Given the description of an element on the screen output the (x, y) to click on. 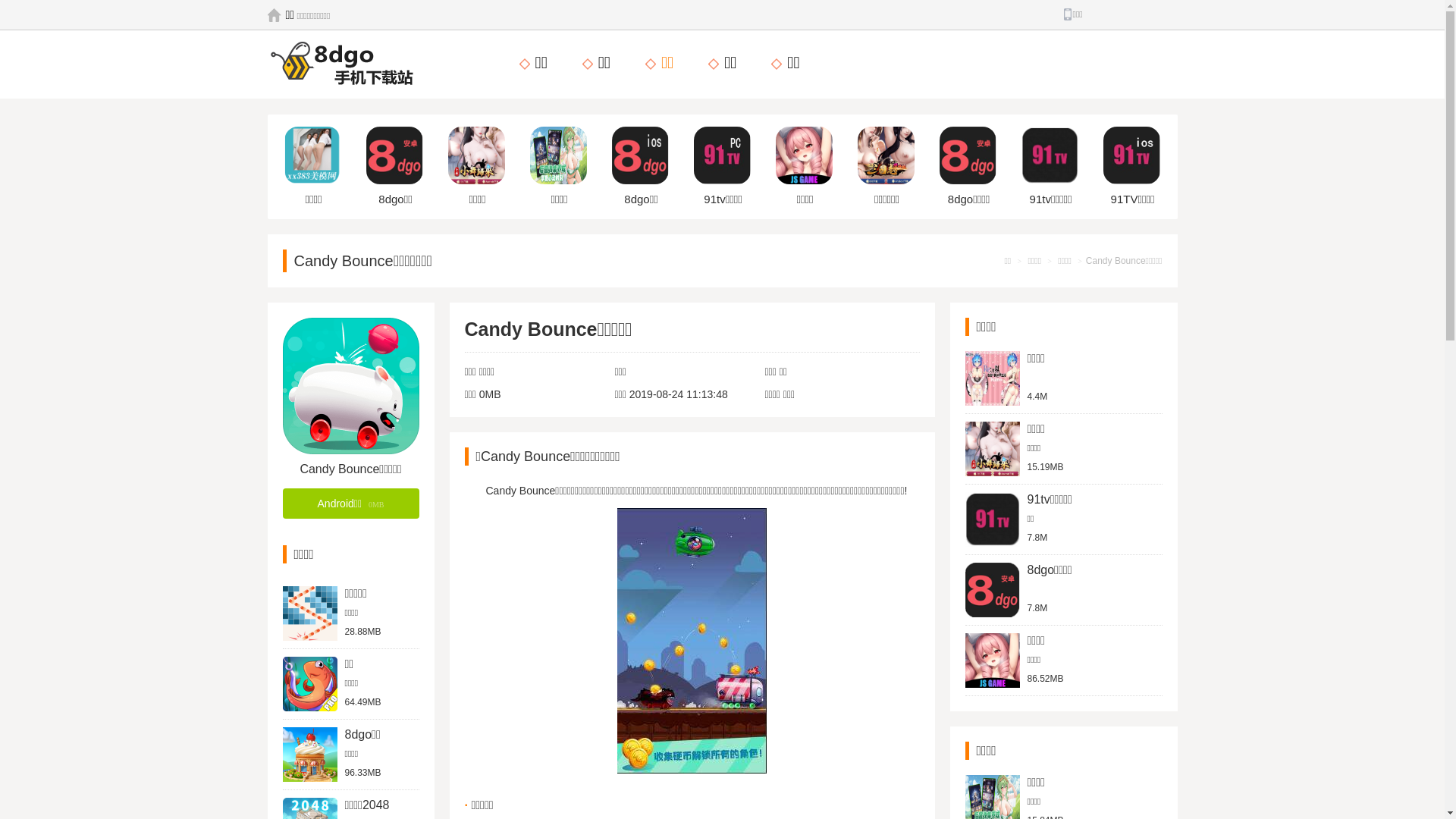
2019-08-24 11:13:48 Element type: text (678, 394)
0MB Element type: text (490, 394)
